Given the description of an element on the screen output the (x, y) to click on. 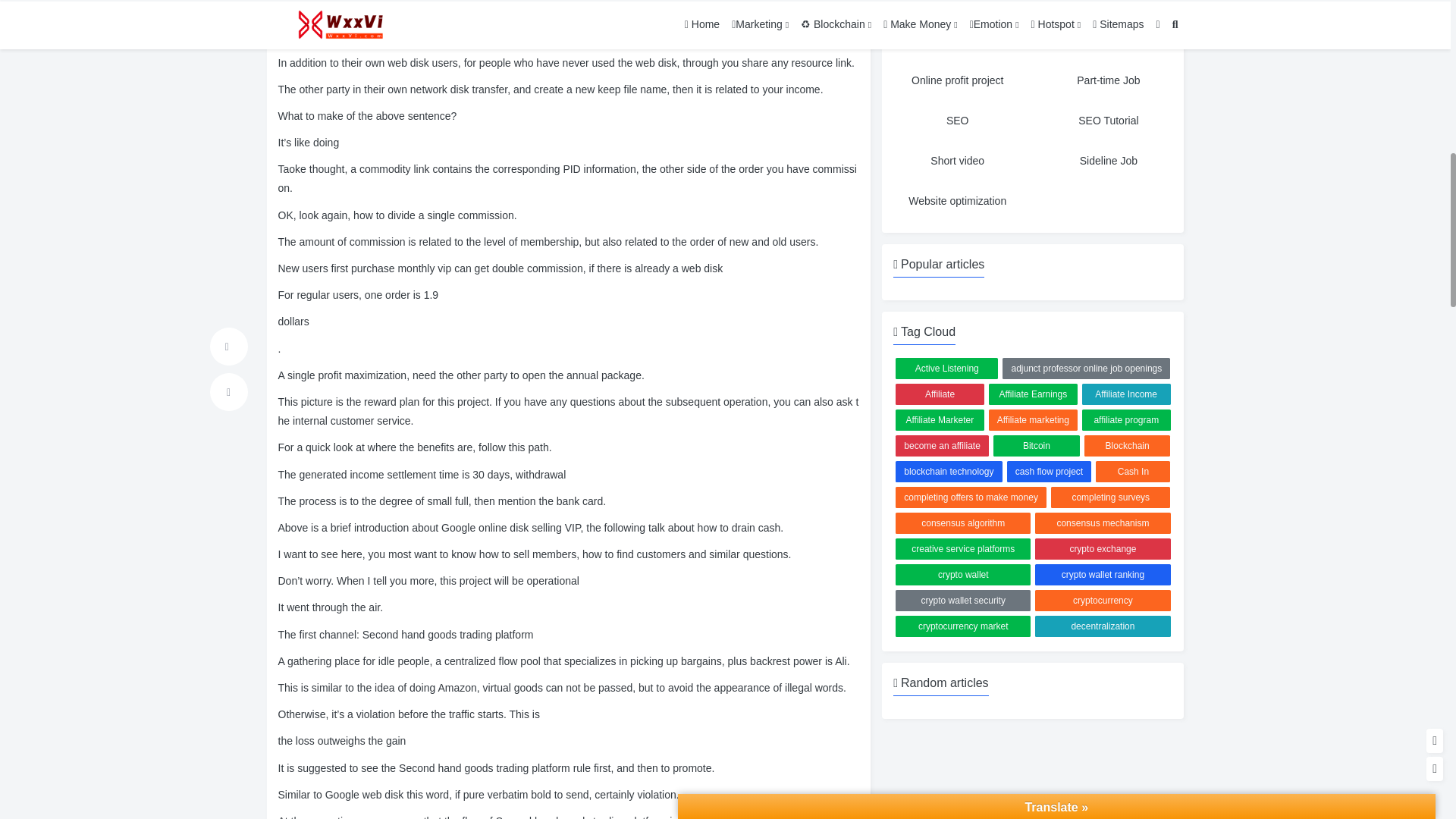
Online moneymaking (1108, 40)
Online earning (957, 40)
Metaverse (957, 7)
NFT (1108, 7)
